Given the description of an element on the screen output the (x, y) to click on. 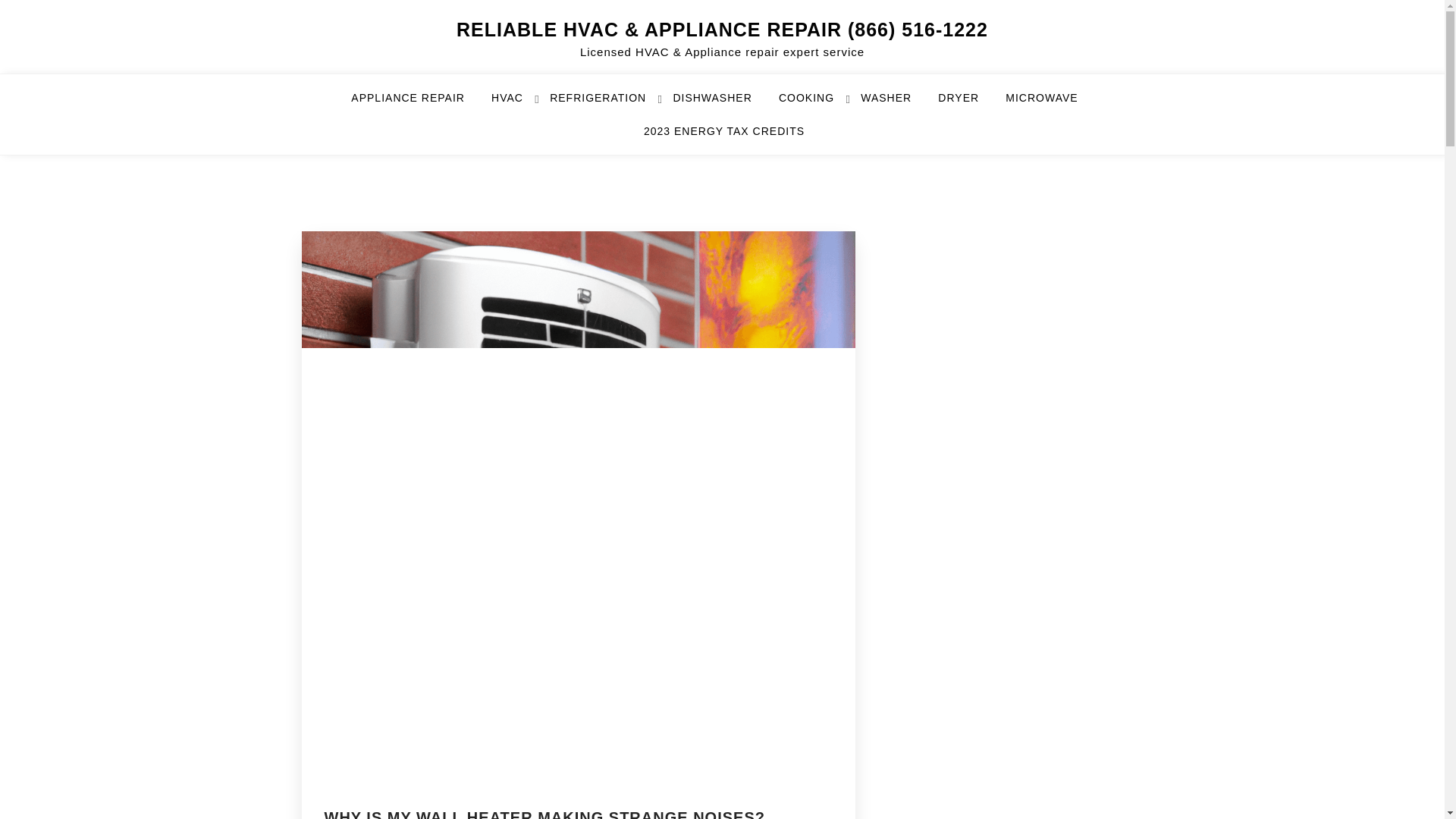
DISHWASHER (721, 104)
APPLIANCE REPAIR (416, 104)
COOKING (815, 104)
REFRIGERATION (607, 104)
2023 ENERGY TAX CREDITS (724, 137)
WASHER (895, 104)
MICROWAVE (1051, 104)
HVAC (516, 104)
DRYER (967, 104)
